Given the description of an element on the screen output the (x, y) to click on. 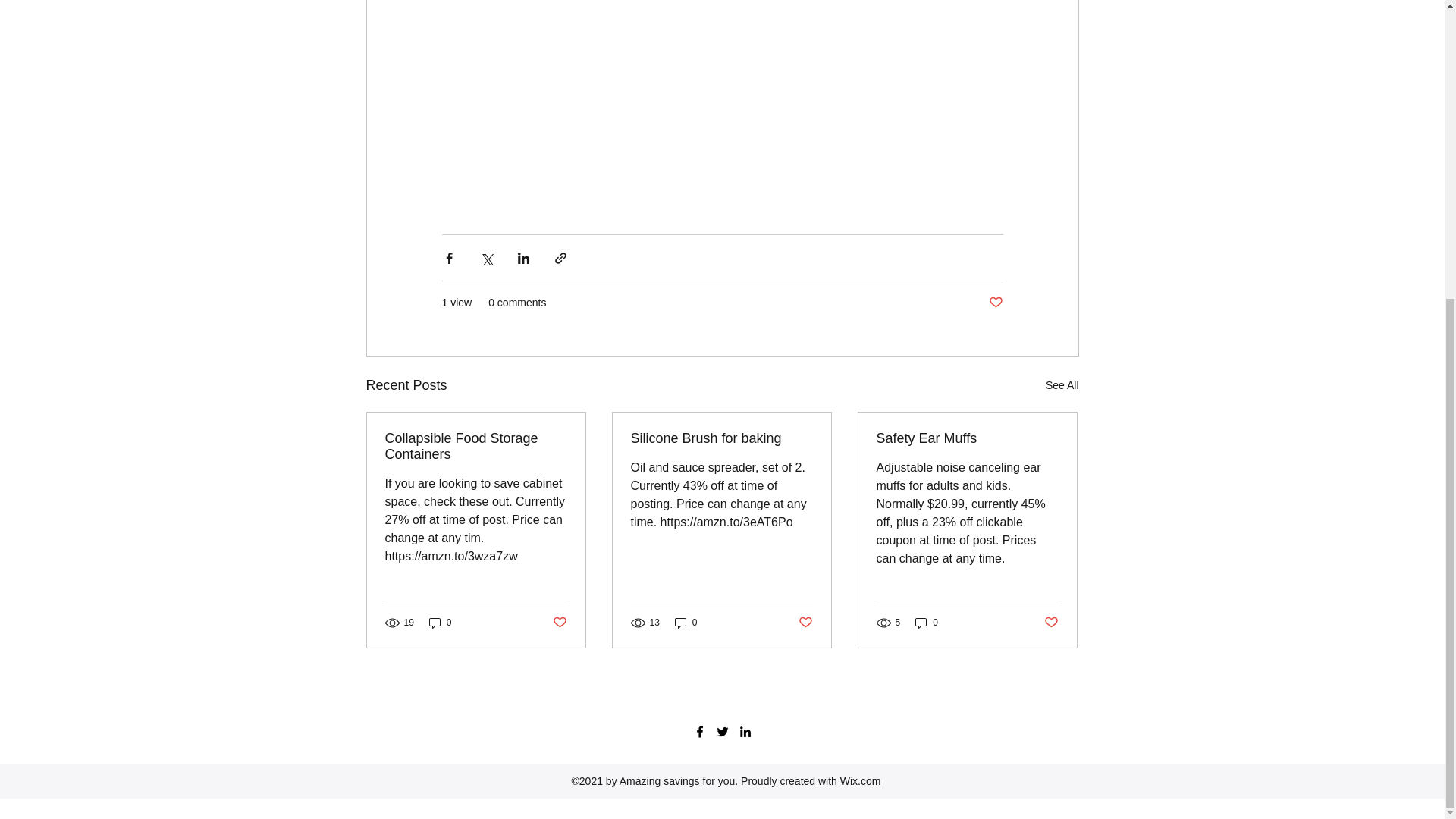
Post not marked as liked (804, 622)
Safety Ear Muffs (967, 438)
See All (1061, 385)
Post not marked as liked (558, 622)
Post not marked as liked (1050, 622)
Silicone Brush for baking (721, 438)
0 (685, 622)
Post not marked as liked (995, 302)
0 (926, 622)
0 (440, 622)
Collapsible Food Storage Containers (476, 446)
